Given the description of an element on the screen output the (x, y) to click on. 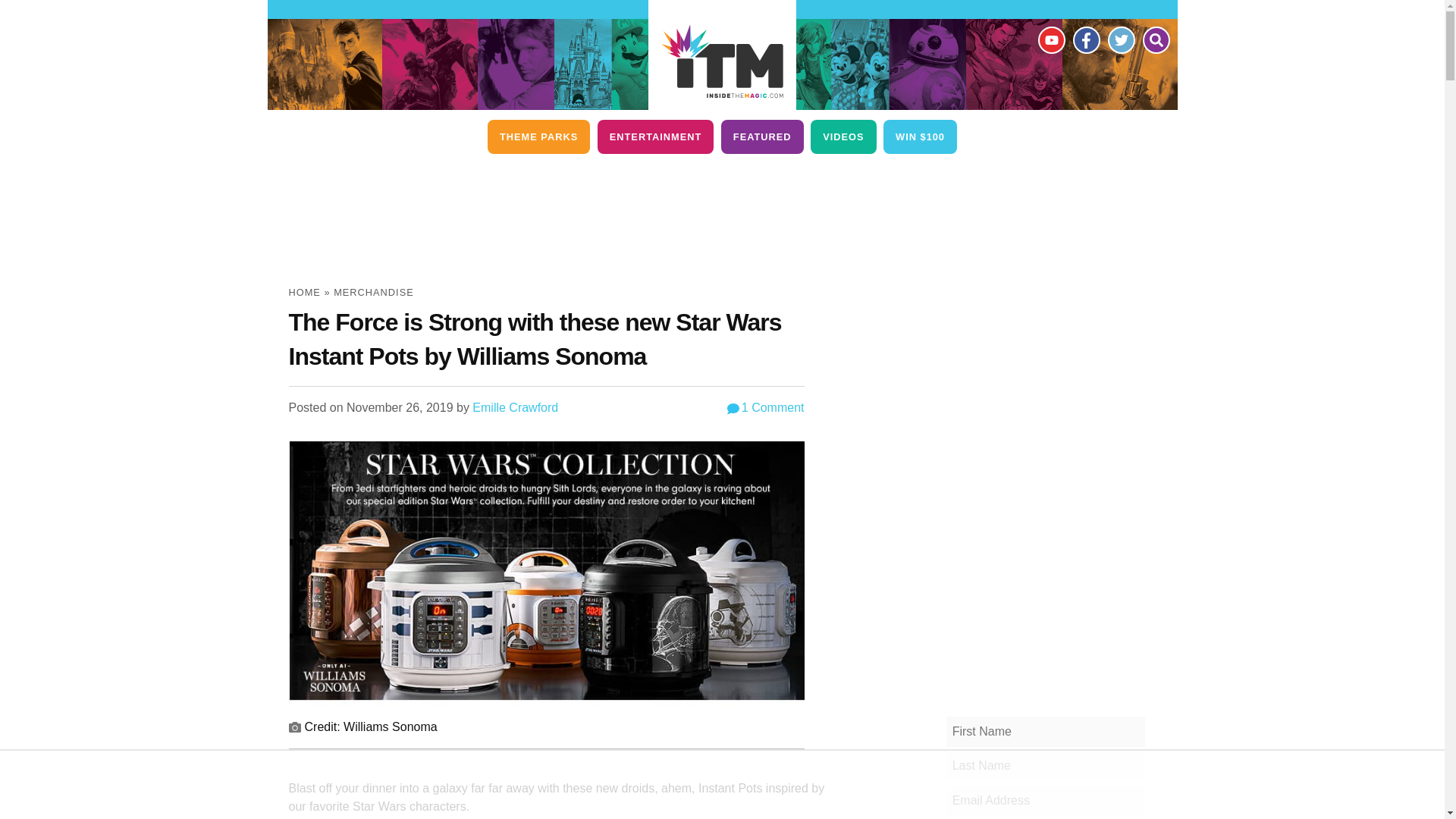
YouTube (1050, 40)
ENTERTAINMENT (655, 136)
Twitter (1120, 40)
THEME PARKS (538, 136)
Facebook (1085, 40)
FEATURED (761, 136)
Search (1155, 40)
